Given the description of an element on the screen output the (x, y) to click on. 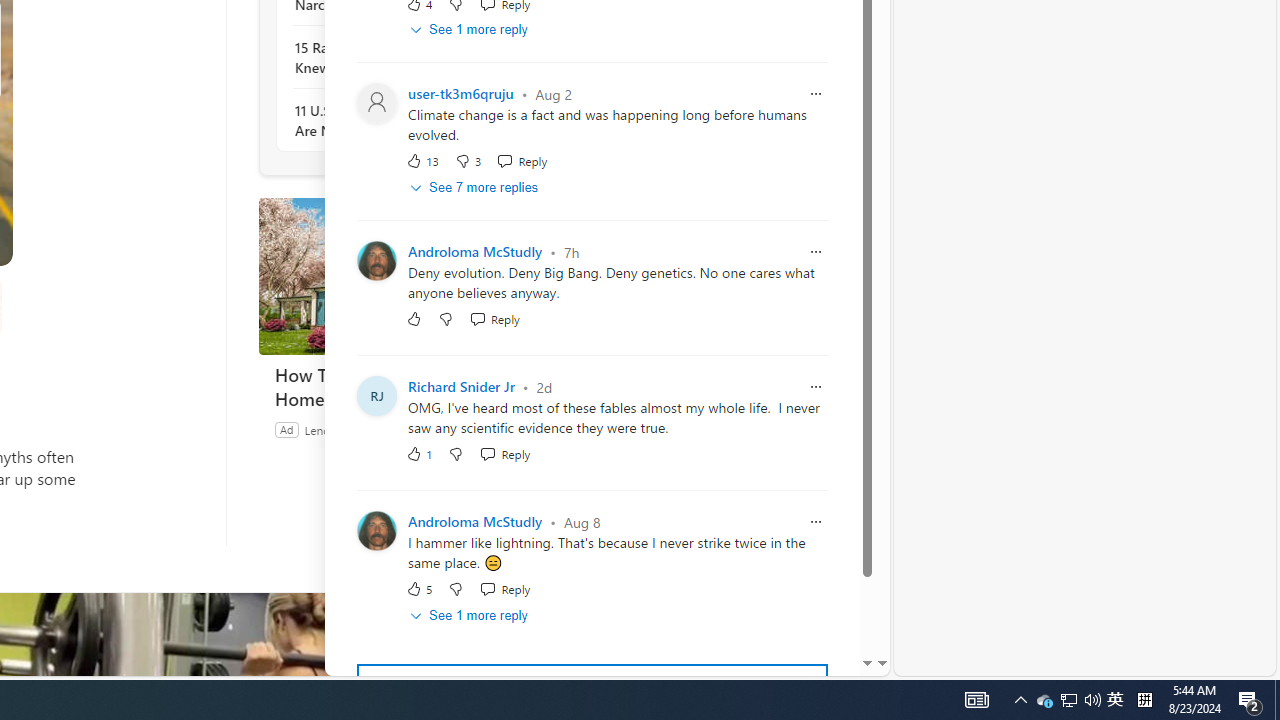
Profile Picture (376, 531)
See 7 more replies (475, 187)
Richard Snider Jr (461, 387)
user-tk3m6qruju (461, 94)
1 Like (419, 454)
Report comment (815, 522)
Androloma McStudly (475, 521)
